Given the description of an element on the screen output the (x, y) to click on. 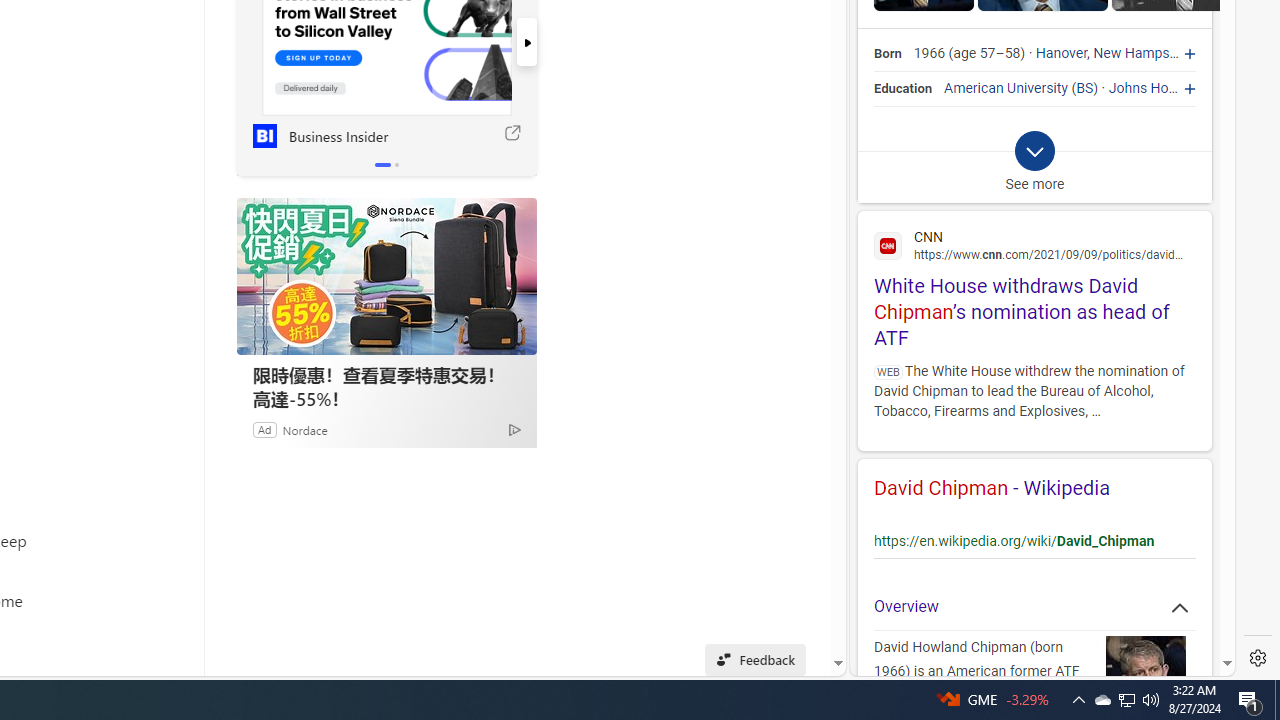
Education (903, 88)
Hanover (1061, 53)
BS (1085, 88)
CNN (1034, 244)
